Given the description of an element on the screen output the (x, y) to click on. 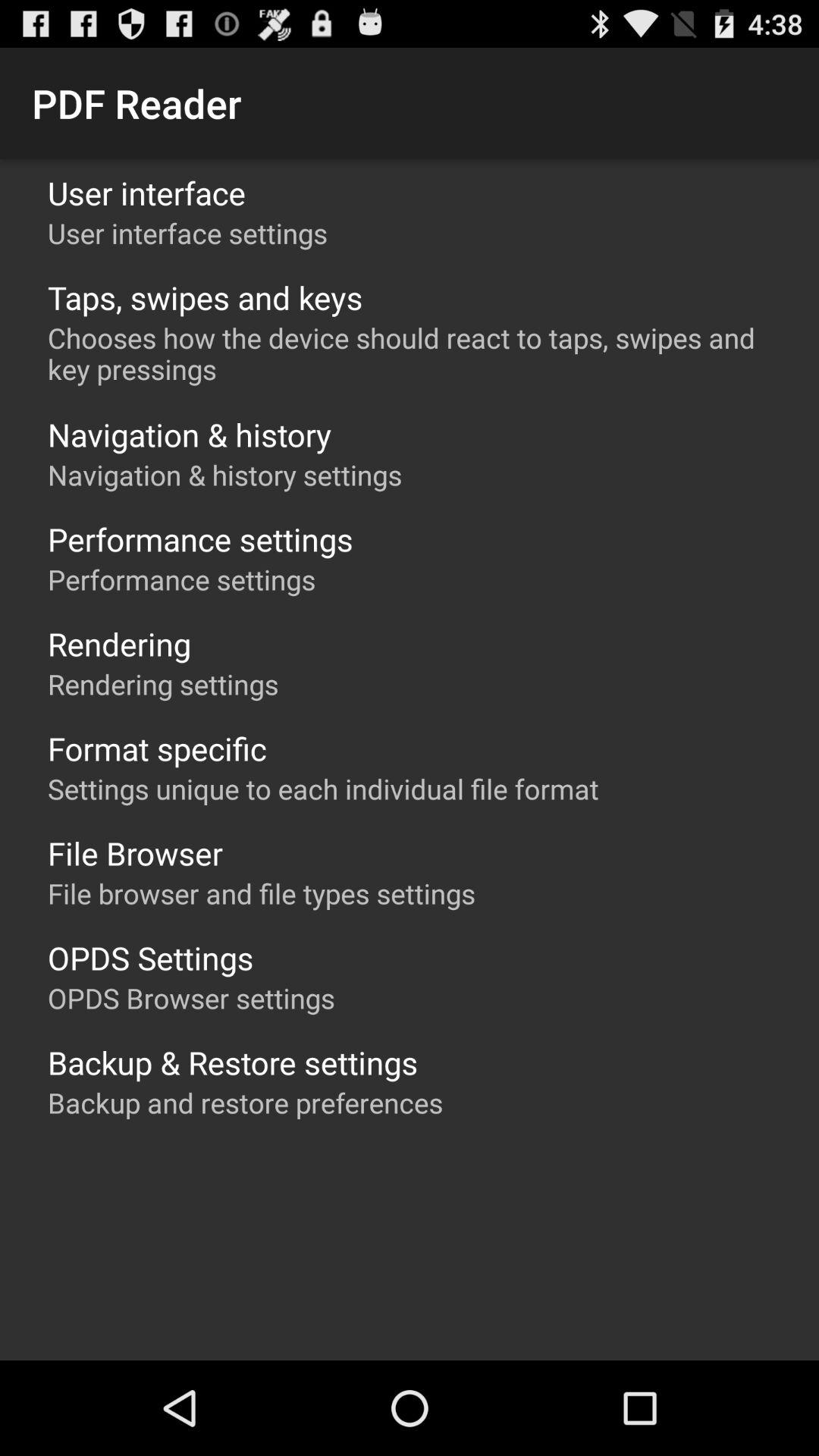
press the chooses how the icon (417, 354)
